Given the description of an element on the screen output the (x, y) to click on. 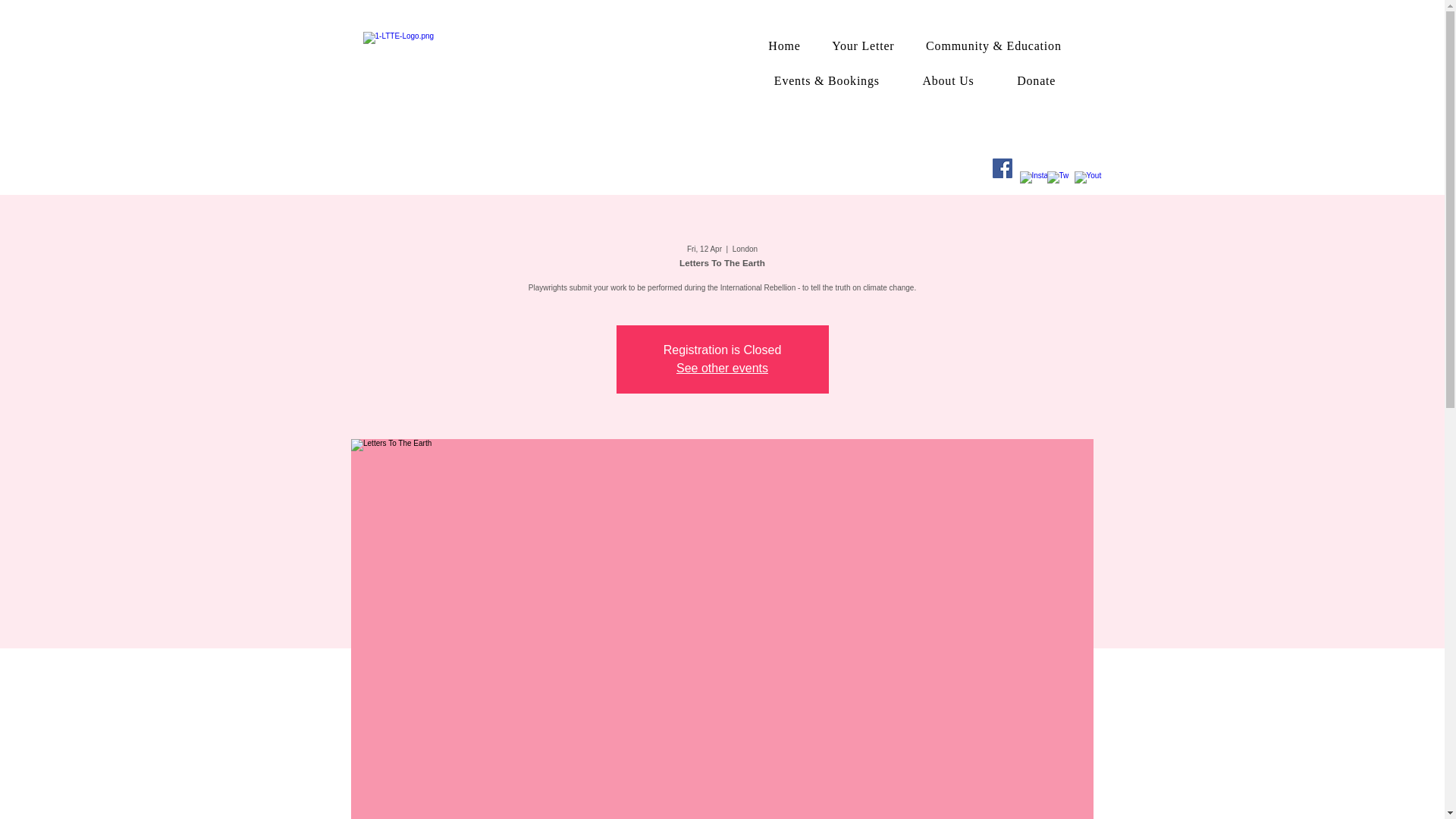
Home (783, 45)
About Us (948, 80)
Your Letter (862, 45)
See other events (722, 367)
Donate (1036, 80)
